Given the description of an element on the screen output the (x, y) to click on. 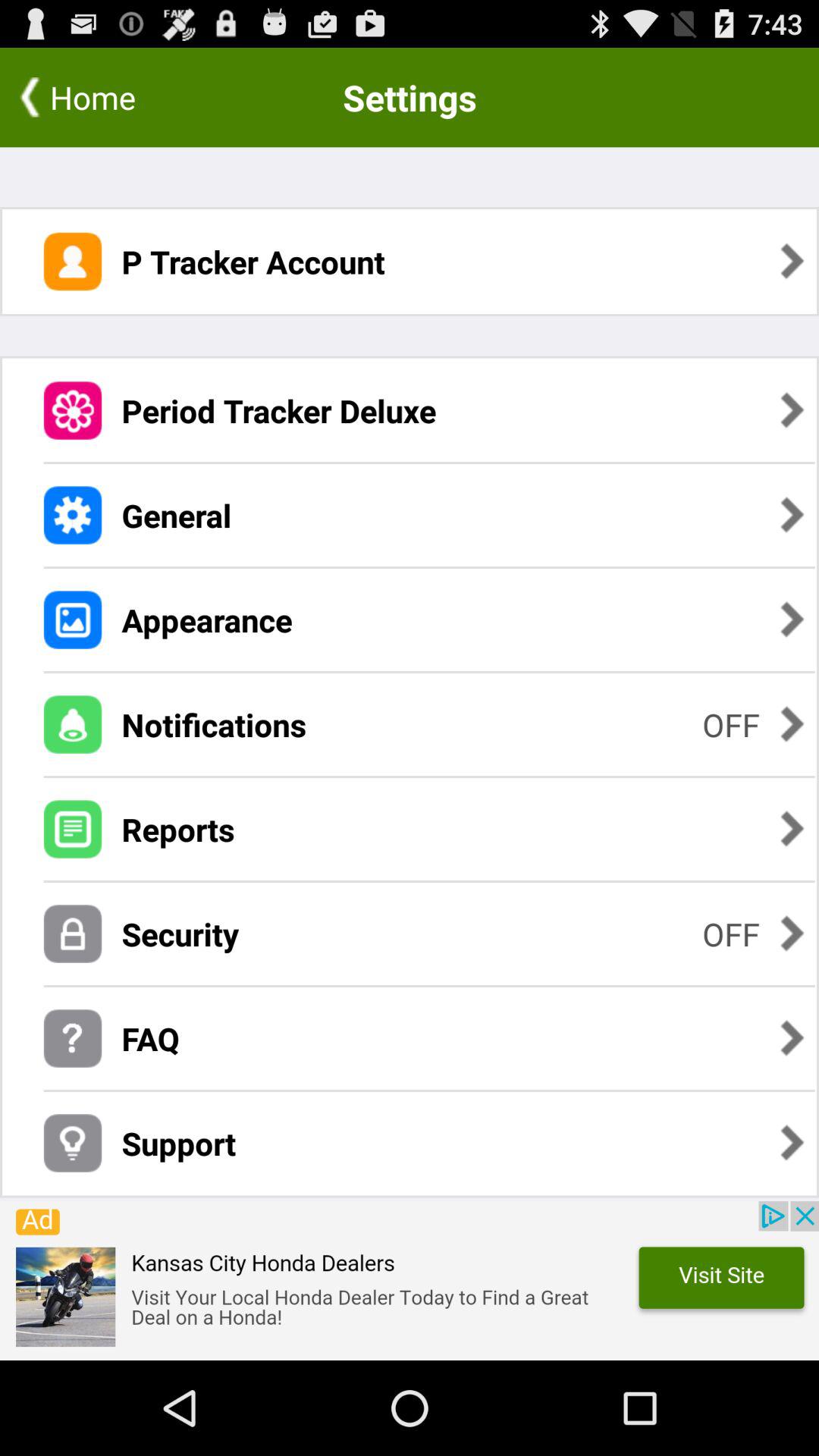
see advertisement (409, 1280)
